Given the description of an element on the screen output the (x, y) to click on. 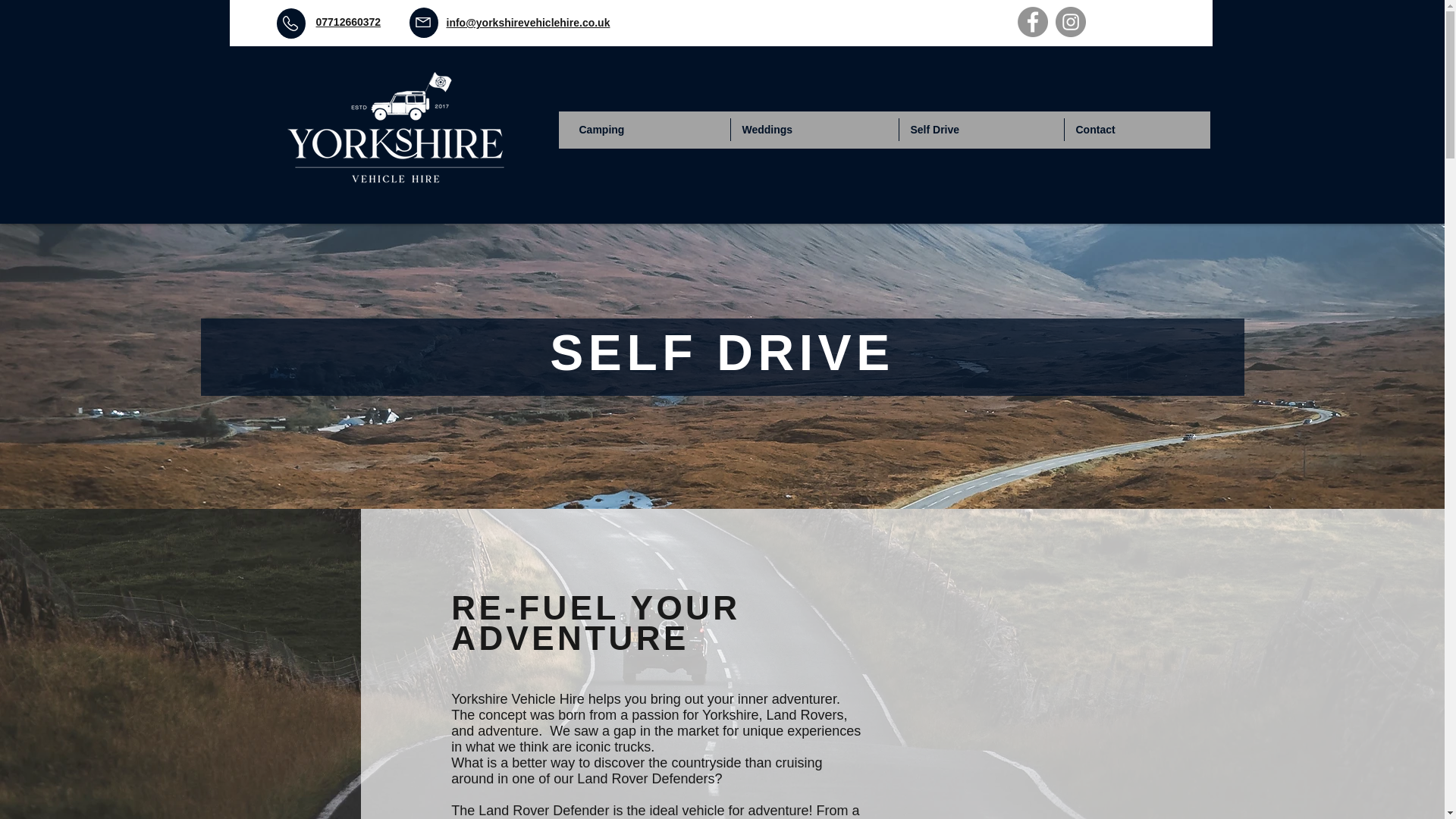
Contact (1142, 128)
Camping (648, 128)
Self Drive (981, 128)
Weddings (814, 128)
07712660372 (347, 21)
